Given the description of an element on the screen output the (x, y) to click on. 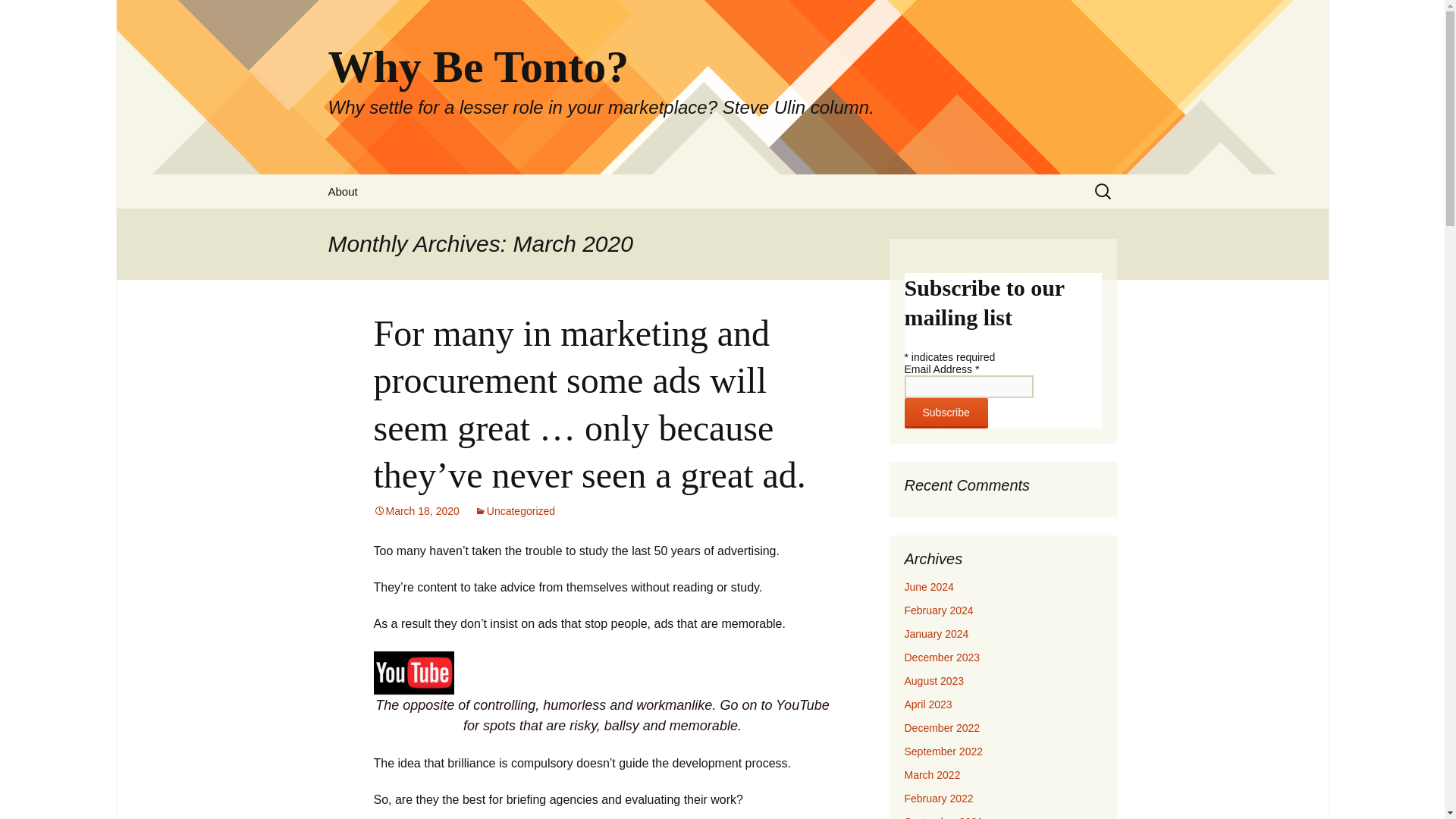
Subscribe (945, 413)
January 2024 (936, 633)
Uncategorized (514, 510)
December 2022 (941, 727)
September 2021 (943, 817)
March 2022 (931, 775)
September 2022 (943, 751)
Subscribe (945, 413)
June 2024 (928, 586)
Search (18, 15)
March 18, 2020 (415, 510)
About (342, 191)
February 2024 (938, 610)
